Given the description of an element on the screen output the (x, y) to click on. 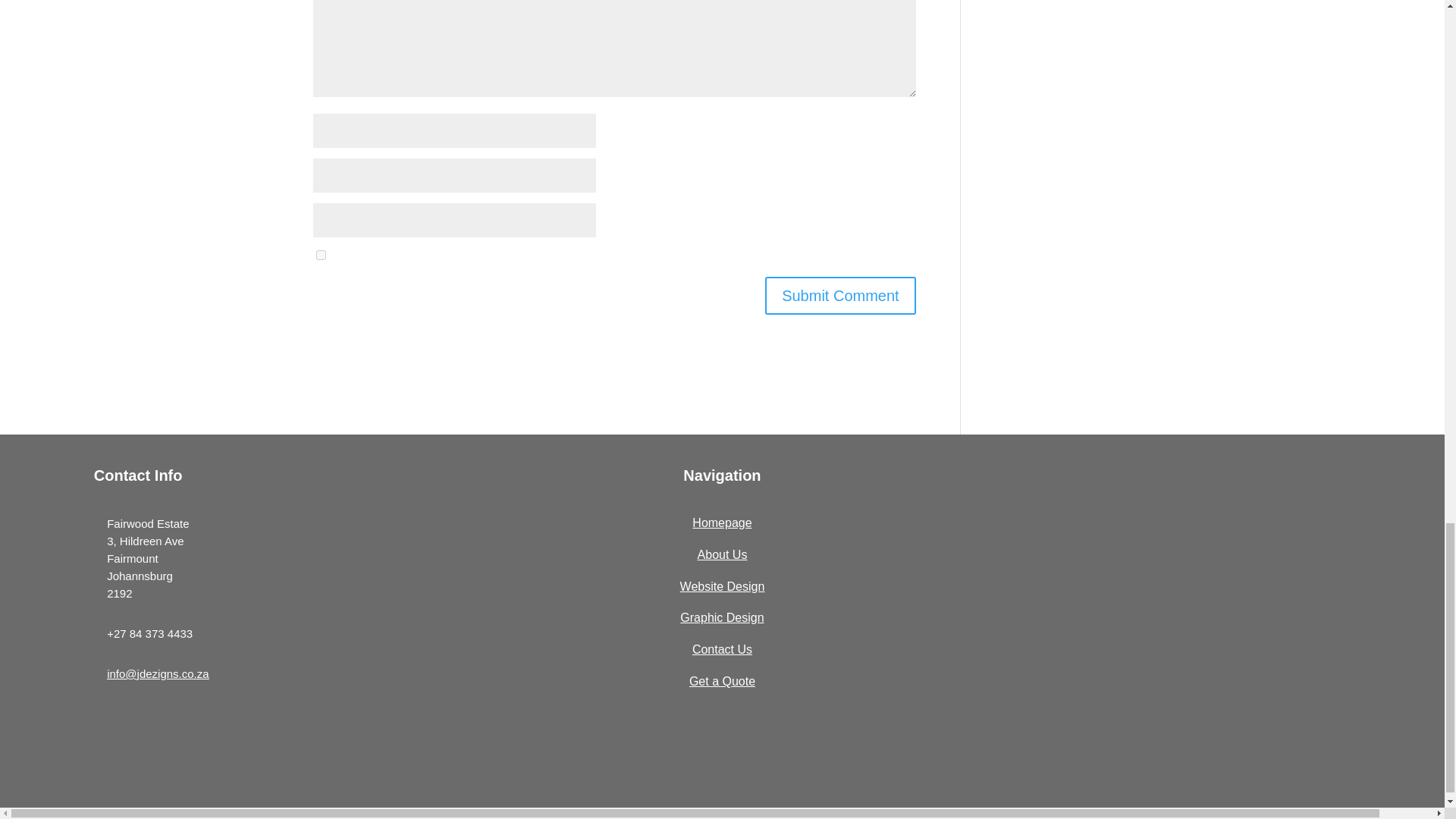
yes (319, 255)
Submit Comment (840, 295)
